Given the description of an element on the screen output the (x, y) to click on. 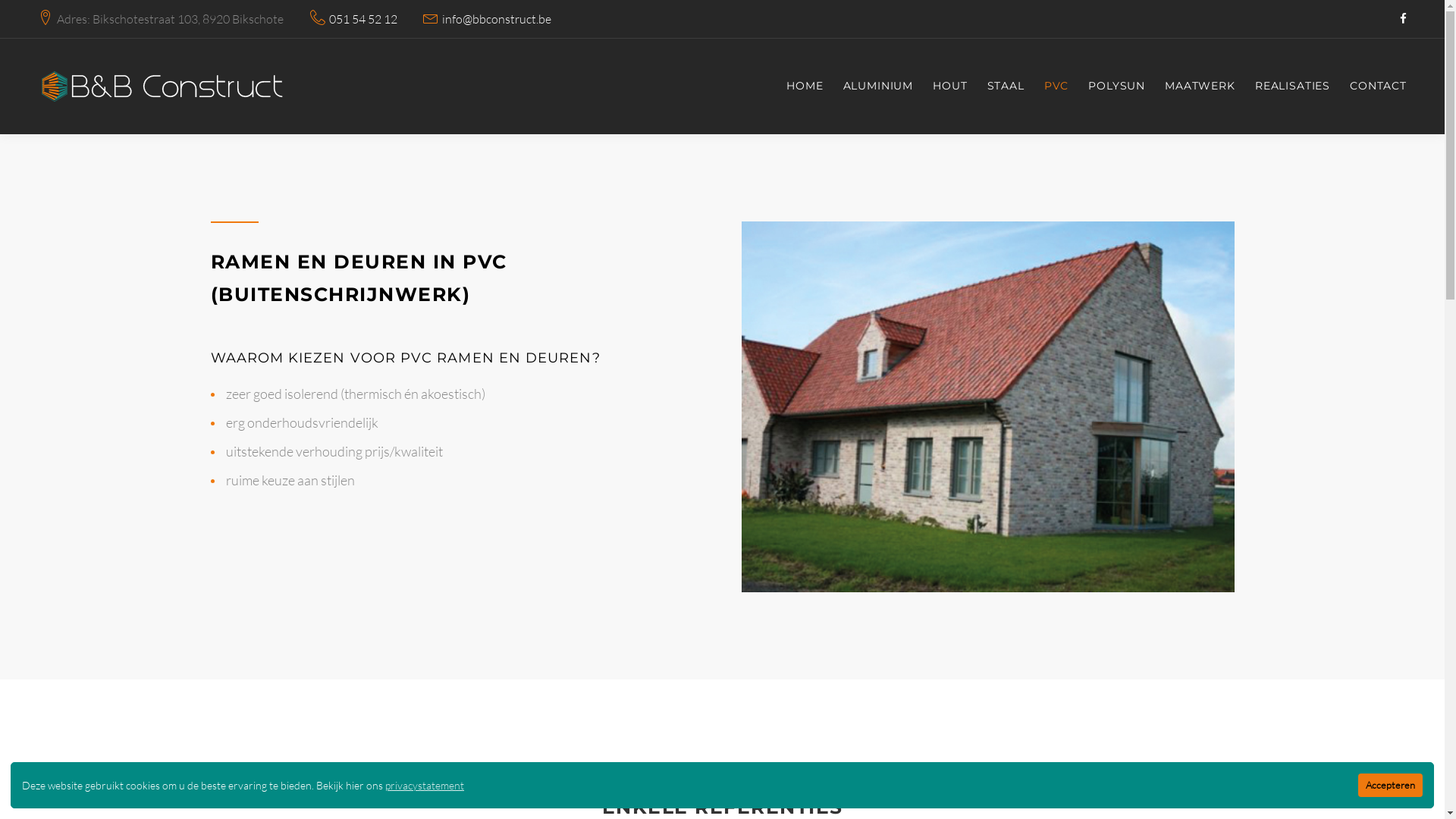
Accepteren Element type: text (1390, 785)
PVC Element type: text (1056, 86)
POLYSUN Element type: text (1116, 86)
info@bbconstruct.be Element type: text (496, 19)
HOME Element type: text (804, 86)
MAATWERK Element type: text (1199, 86)
HOUT Element type: text (949, 86)
privacystatement Element type: text (424, 785)
REALISATIES Element type: text (1292, 86)
STAAL Element type: text (1005, 86)
051 54 52 12 Element type: text (363, 19)
ALUMINIUM Element type: text (878, 86)
CONTACT Element type: text (1377, 86)
